Given the description of an element on the screen output the (x, y) to click on. 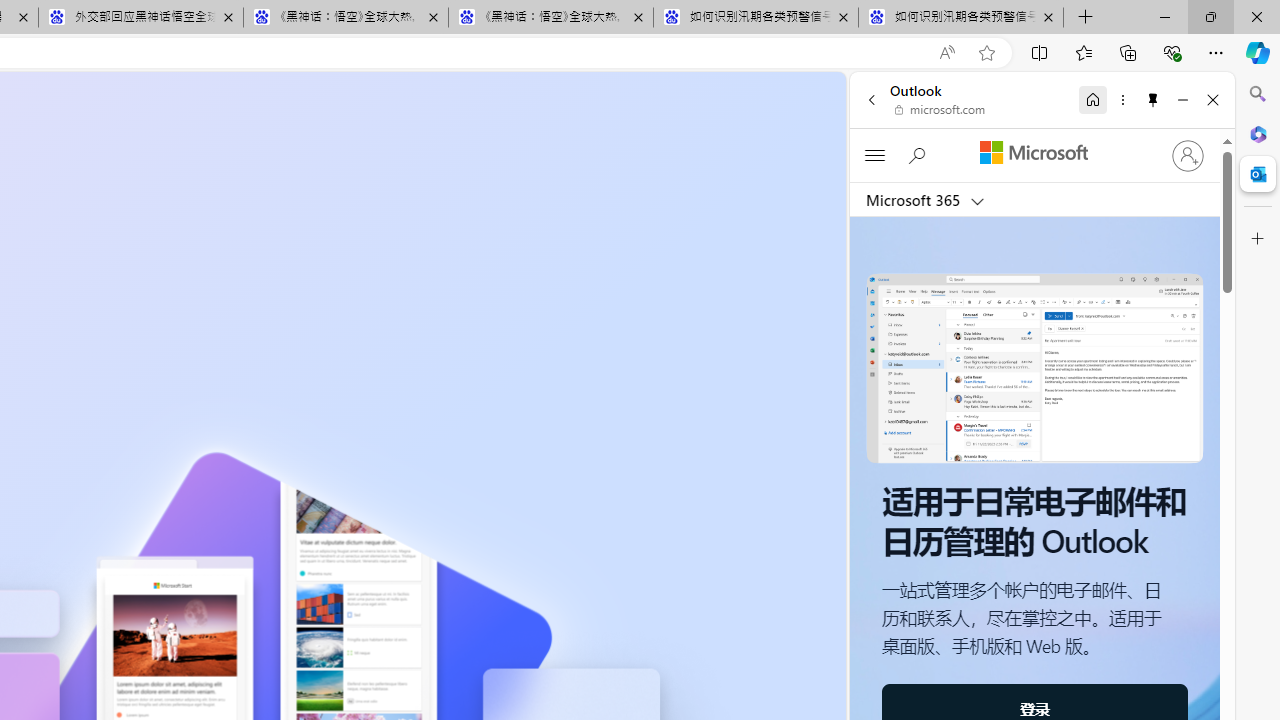
Close (1213, 99)
Minimize (1182, 99)
Settings and more (Alt+F) (1215, 52)
Copilot (Ctrl+Shift+.) (1258, 52)
Browser essentials (1171, 52)
Unpin side pane (1153, 99)
Read aloud this page (Ctrl+Shift+U) (946, 53)
Restore (1210, 16)
Collections (1128, 52)
Customize (1258, 239)
Outlook (1258, 174)
Microsoft (1033, 153)
